Given the description of an element on the screen output the (x, y) to click on. 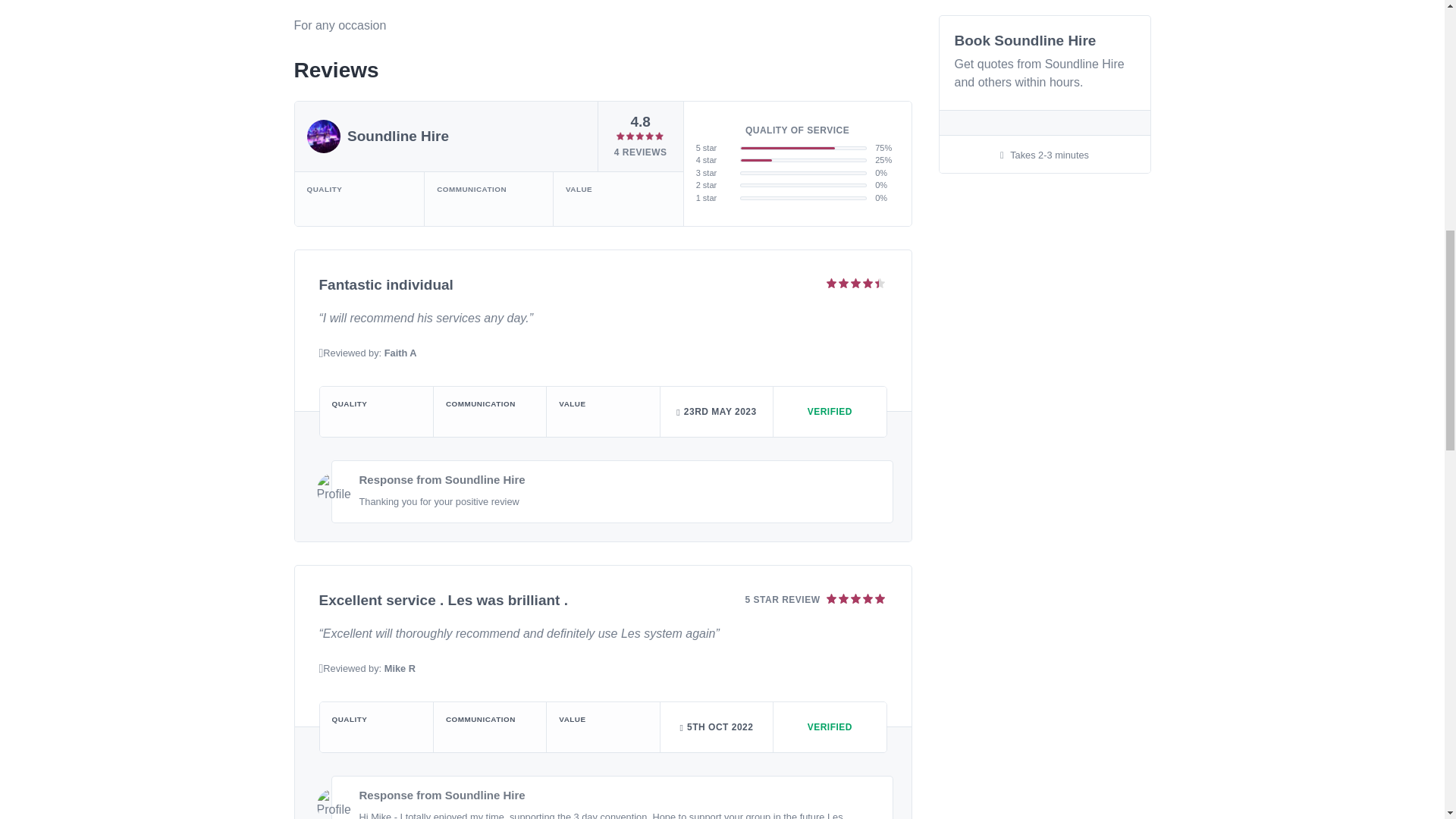
Profile Image (333, 803)
Profile Image (333, 489)
